Given the description of an element on the screen output the (x, y) to click on. 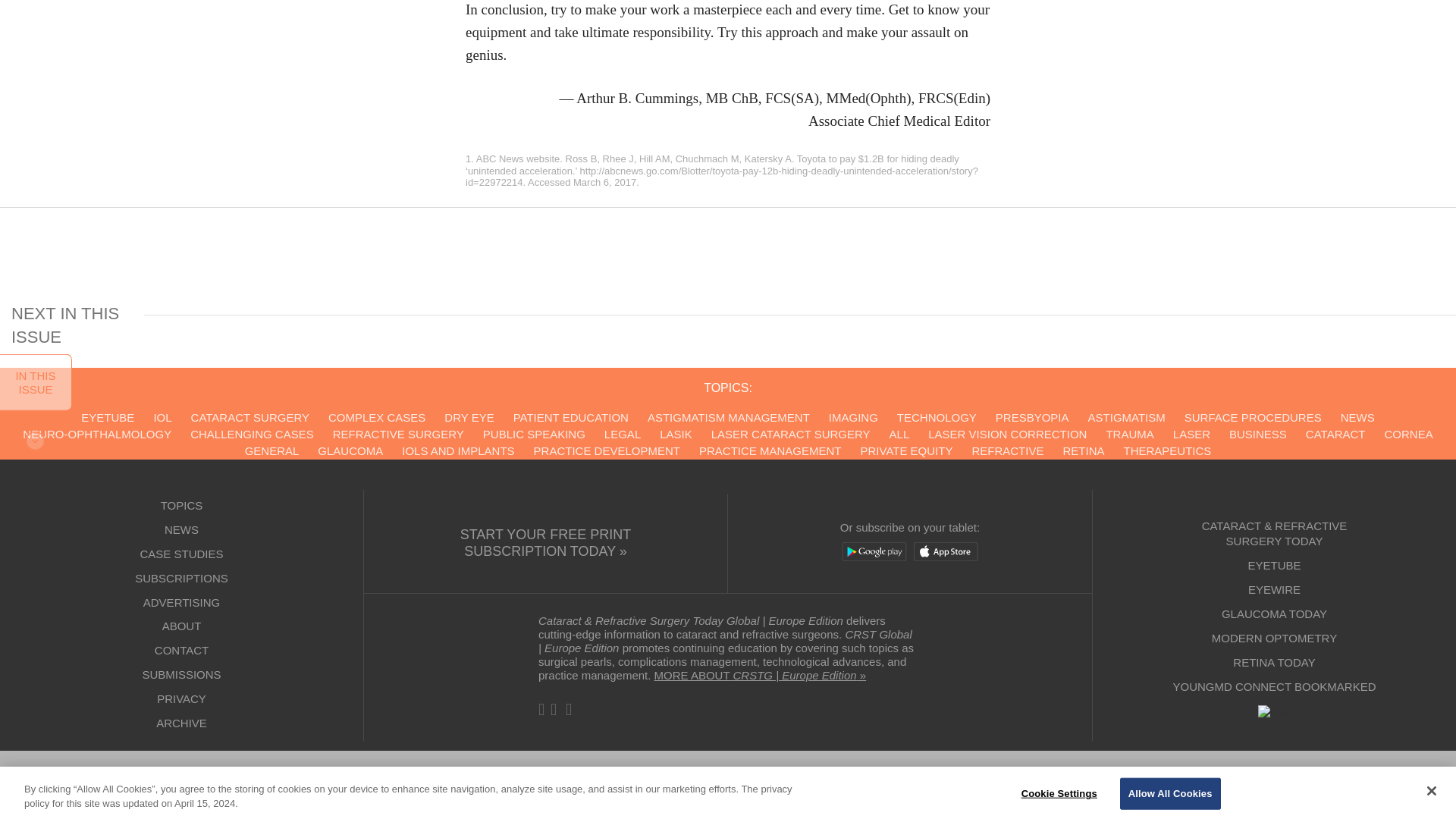
View all post filed under News (1357, 417)
View all post filed under Presbyopia (1031, 417)
View all post filed under Dry Eye (468, 417)
View all post filed under Eyetube (107, 417)
View all post filed under Complex Cases (377, 417)
View all post filed under Neuro-Ophthalmology (97, 433)
View all post filed under Patient Education (570, 417)
View all post filed under Challenging Cases (252, 433)
View all post filed under Refractive Surgery (398, 433)
View all post filed under Astigmatism (1126, 417)
View all post filed under Astigmatism Management (728, 417)
View all post filed under Cataract Surgery (249, 417)
View all post filed under Technology (936, 417)
View all post filed under Surface Procedures (1253, 417)
View all post filed under IOL (161, 417)
